Given the description of an element on the screen output the (x, y) to click on. 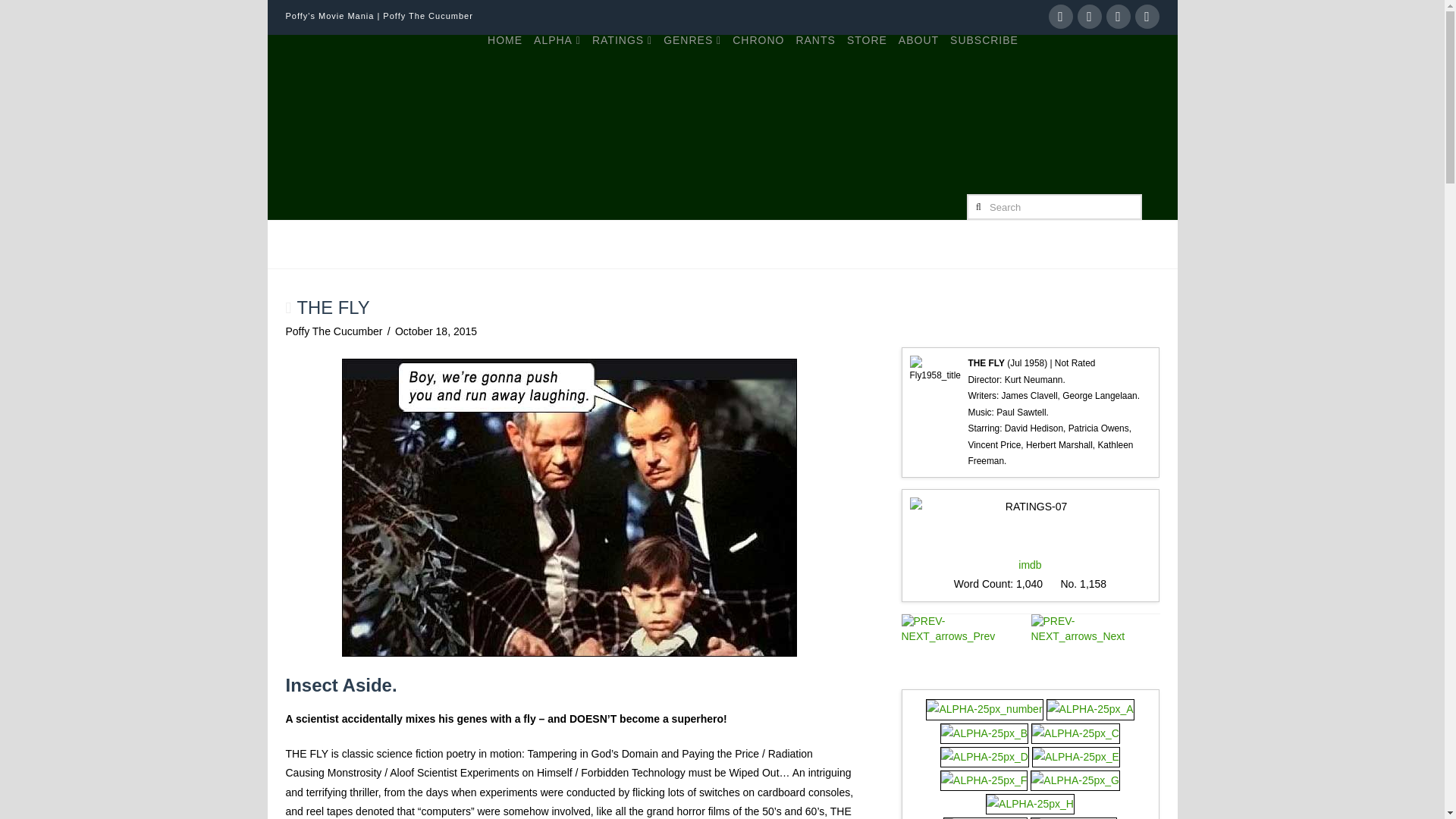
RSS (1146, 16)
YouTube (1117, 16)
Twitter (1088, 16)
Facebook (1059, 16)
RATINGS (622, 69)
